Given the description of an element on the screen output the (x, y) to click on. 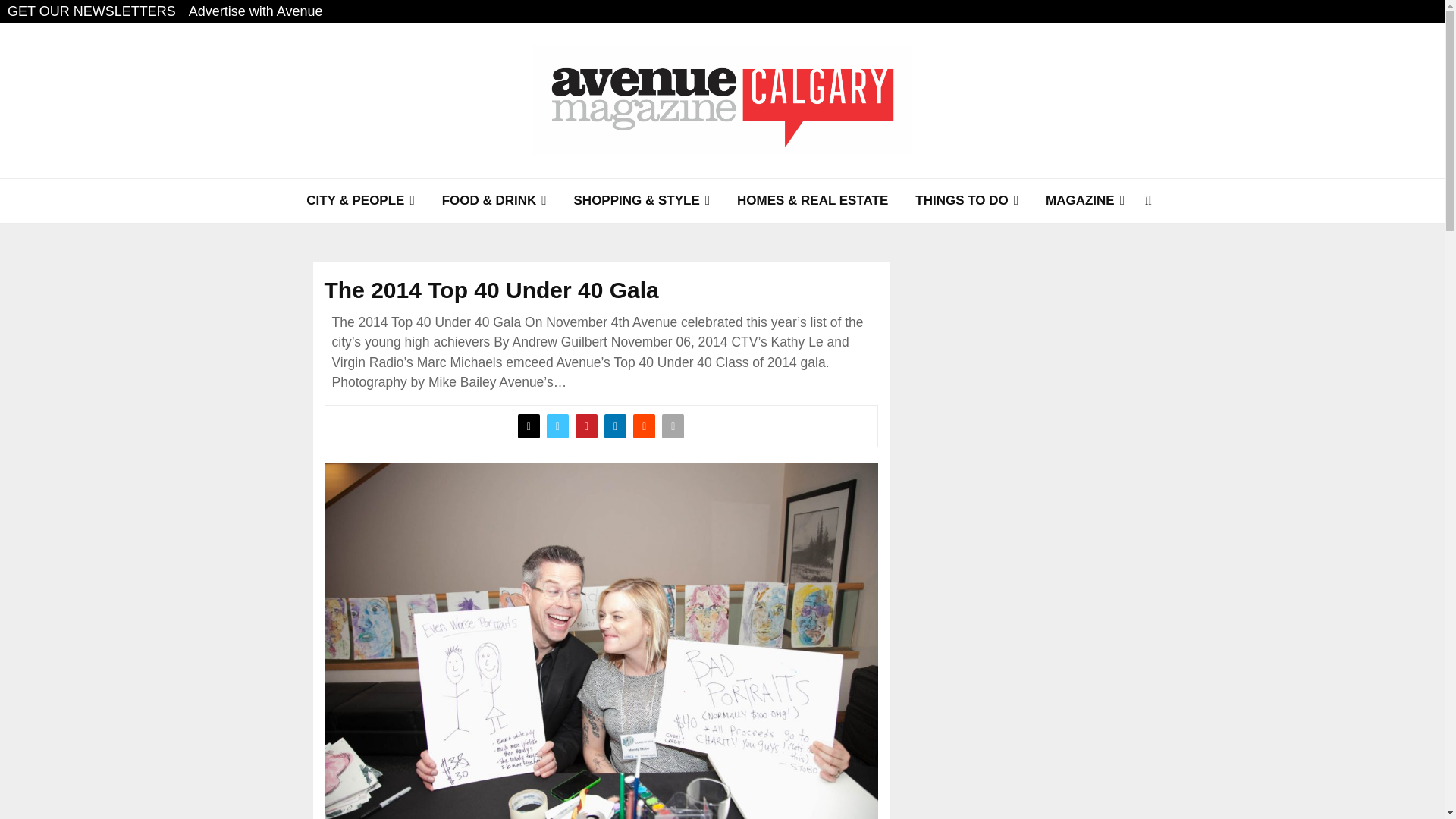
Advertise with Avenue (256, 11)
GET OUR NEWSLETTERS (91, 11)
MAGAZINE (1085, 200)
THINGS TO DO (966, 200)
